Given the description of an element on the screen output the (x, y) to click on. 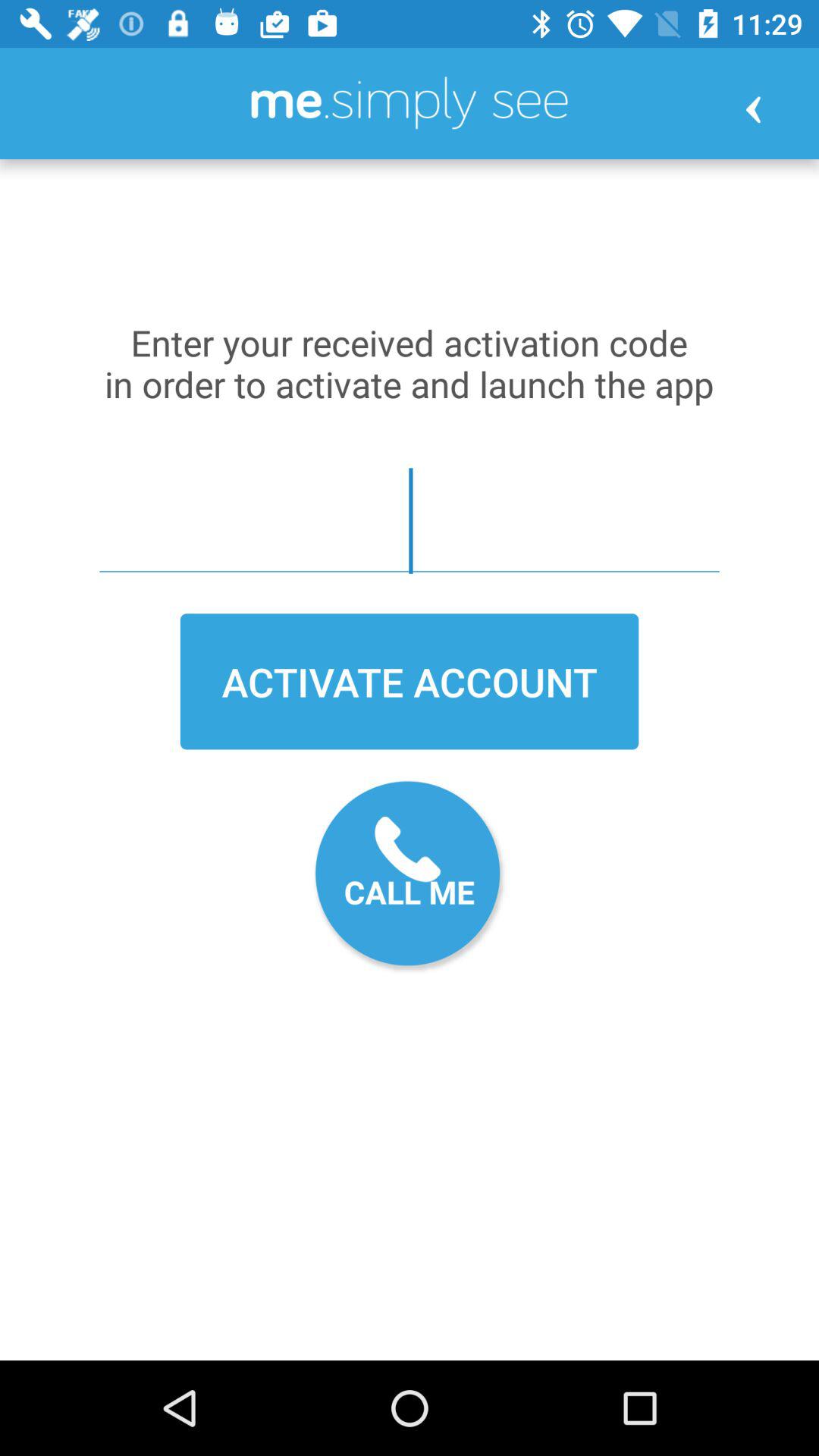
swipe to activate account icon (409, 681)
